Given the description of an element on the screen output the (x, y) to click on. 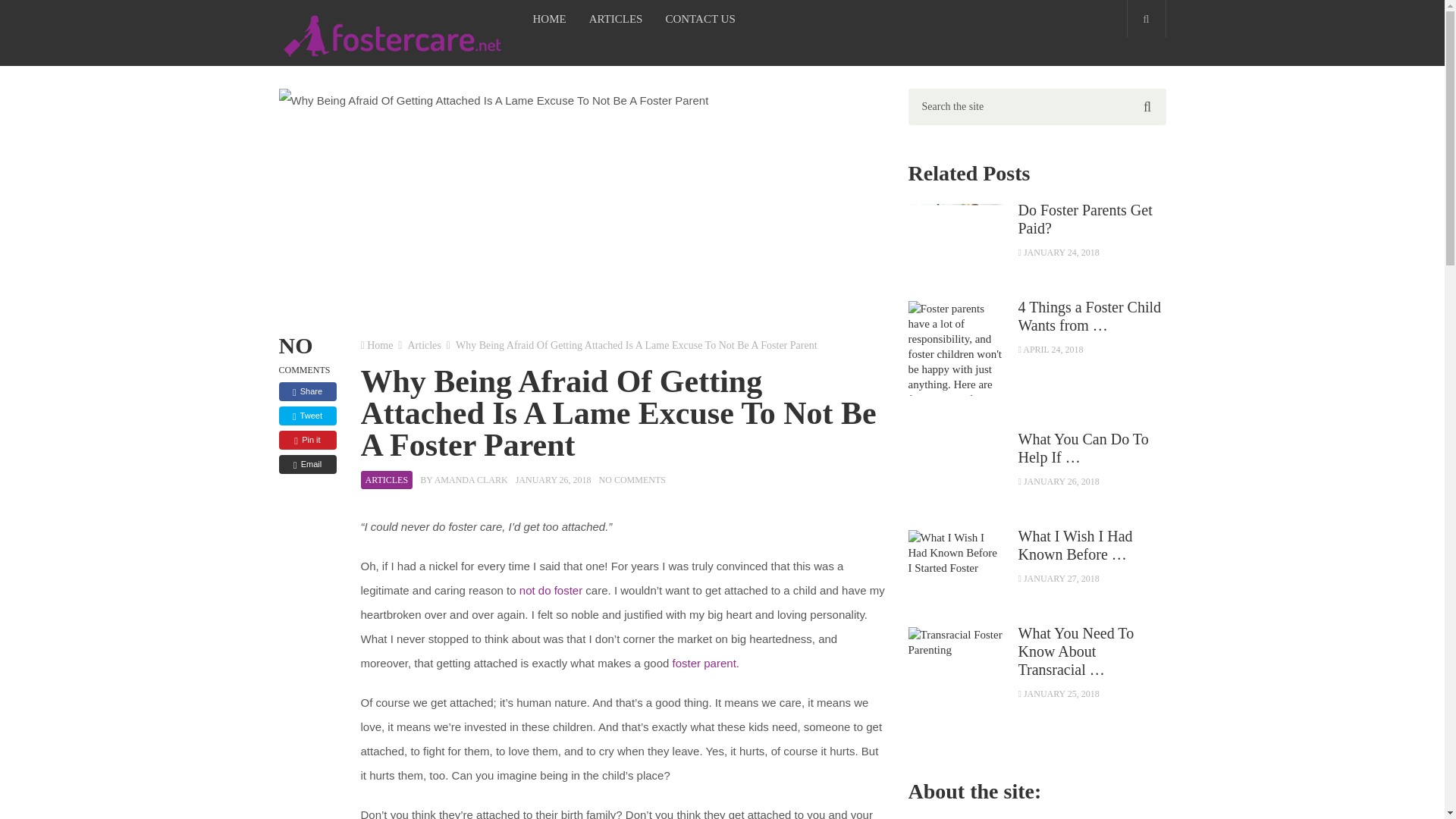
Share (307, 391)
ARTICLES (615, 18)
Articles (424, 345)
ARTICLES (387, 479)
foster (568, 590)
CONTACT US (699, 18)
AMANDA CLARK (470, 480)
View all posts in Articles (387, 479)
NO COMMENTS (631, 480)
Email (307, 464)
